Given the description of an element on the screen output the (x, y) to click on. 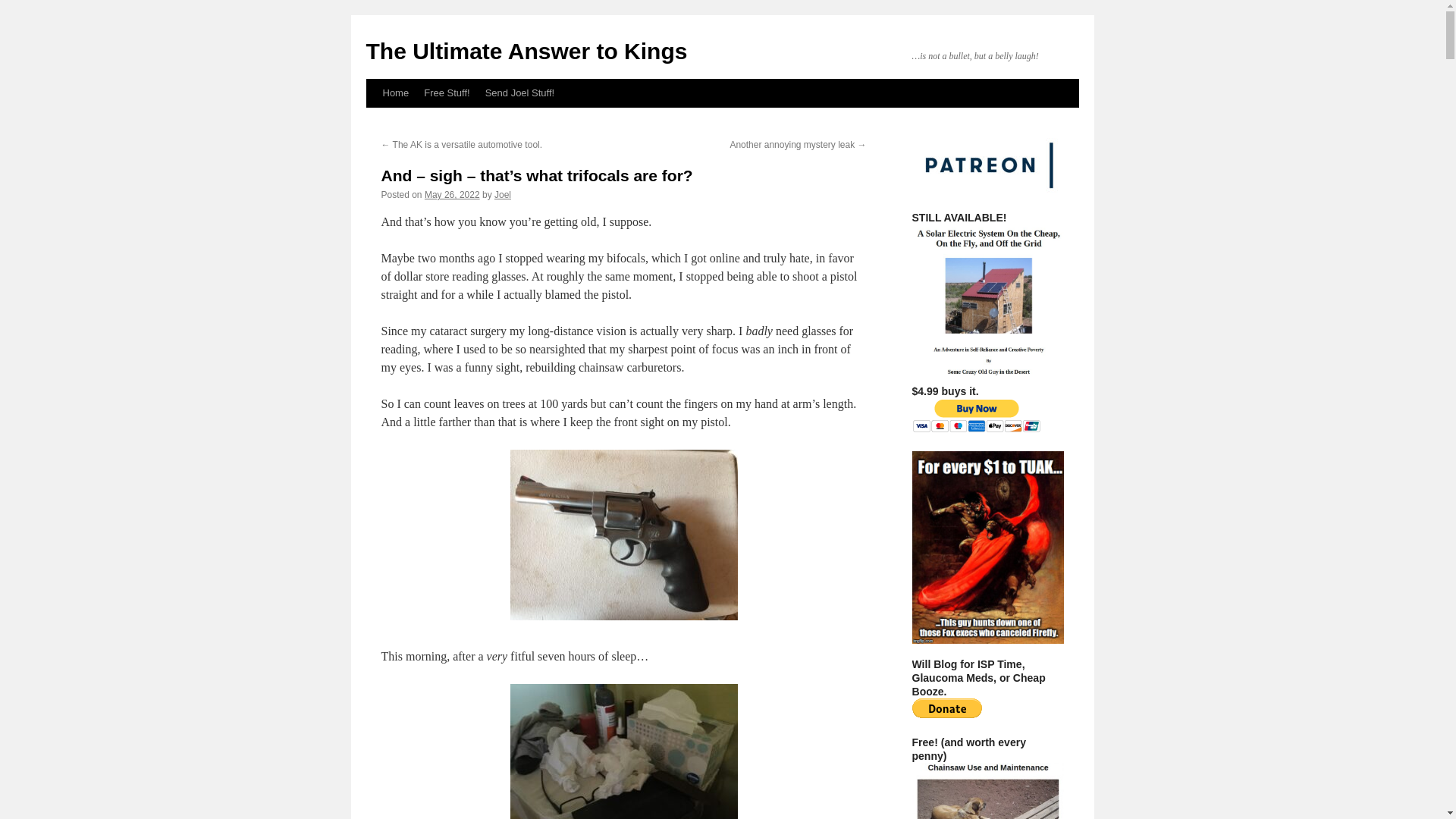
Joel (503, 194)
Home (395, 92)
Free Stuff! (446, 92)
7:57 am (452, 194)
The Ultimate Answer to Kings (526, 50)
View all posts by Joel (503, 194)
May 26, 2022 (452, 194)
Send Joel Stuff! (519, 92)
